Given the description of an element on the screen output the (x, y) to click on. 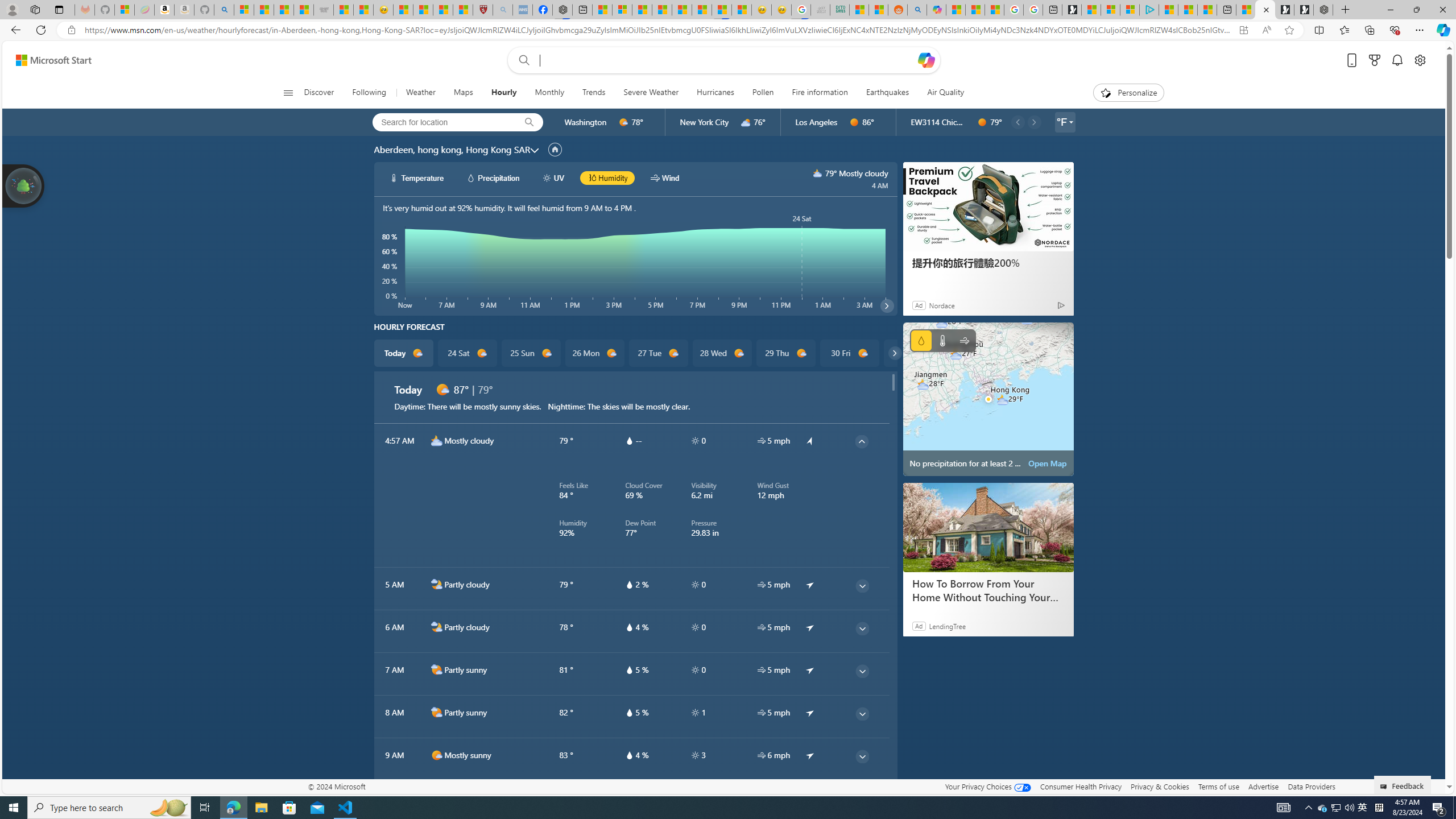
26 Mon d1000 (594, 352)
Pollen (762, 92)
n3000 (436, 440)
24 Sat d1000 (466, 352)
Enter your search term (726, 59)
27 Tue d1000 (658, 352)
